Given the description of an element on the screen output the (x, y) to click on. 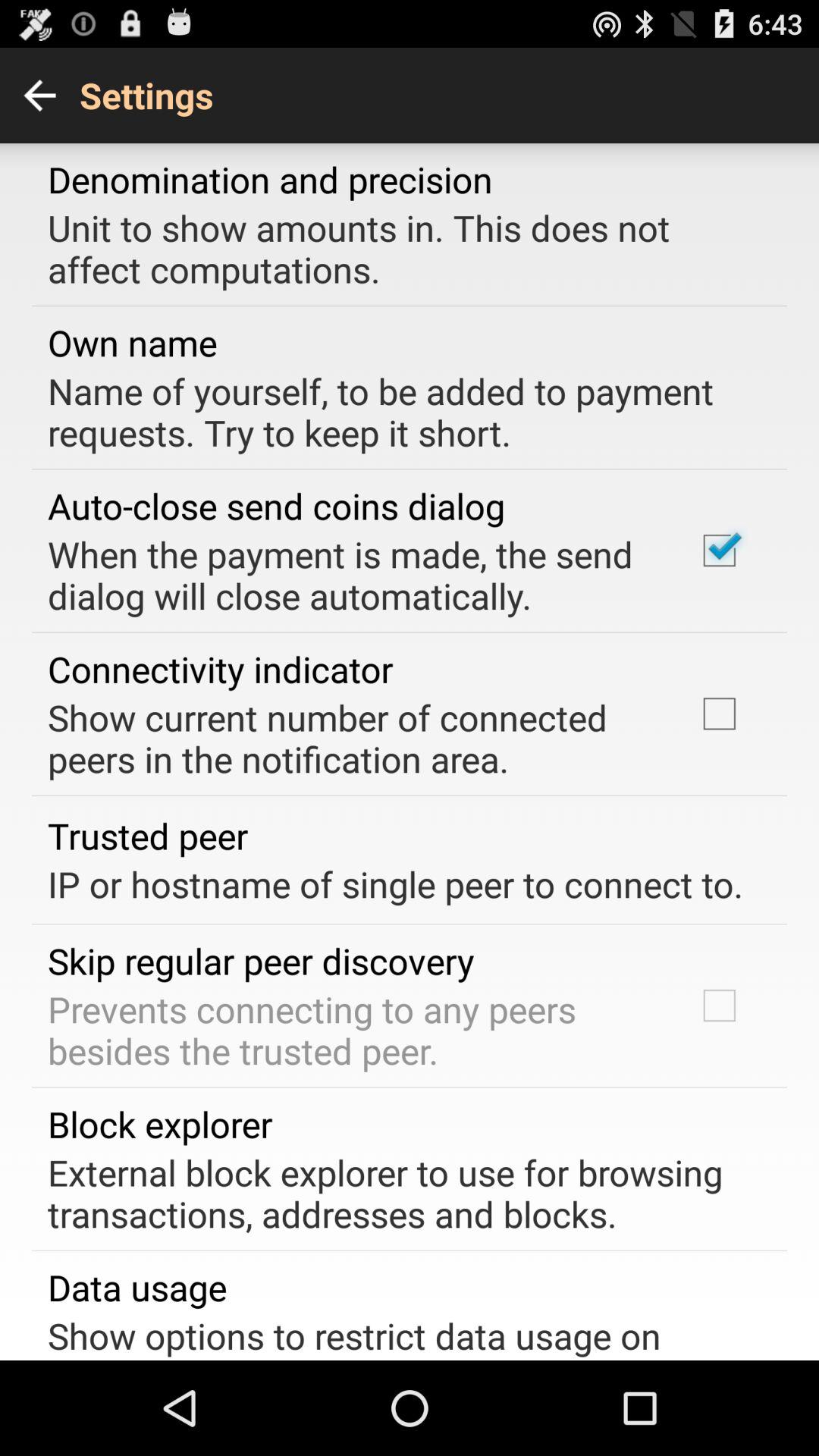
open prevents connecting to (351, 1029)
